Given the description of an element on the screen output the (x, y) to click on. 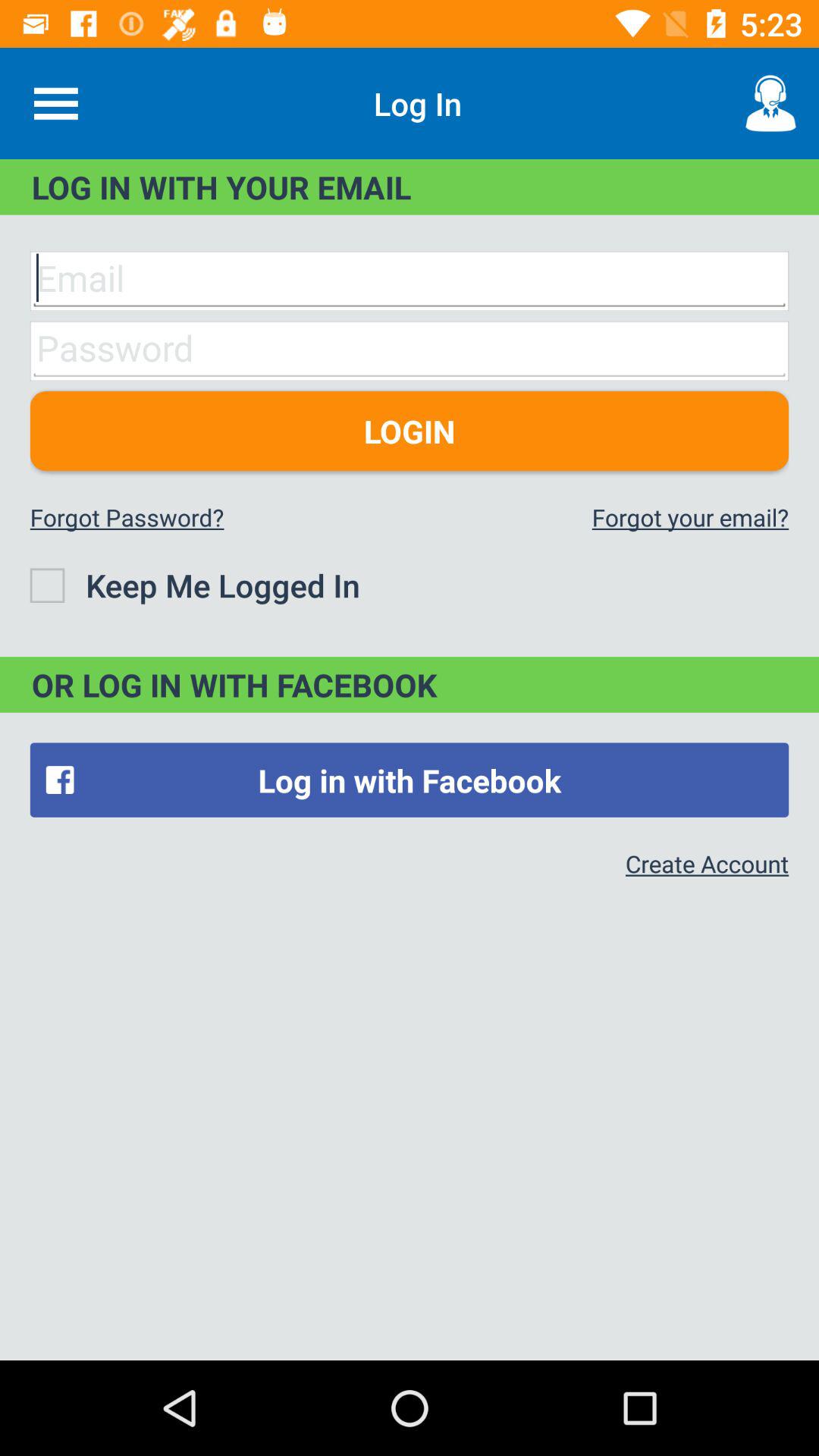
choose item at the top right corner (771, 103)
